Given the description of an element on the screen output the (x, y) to click on. 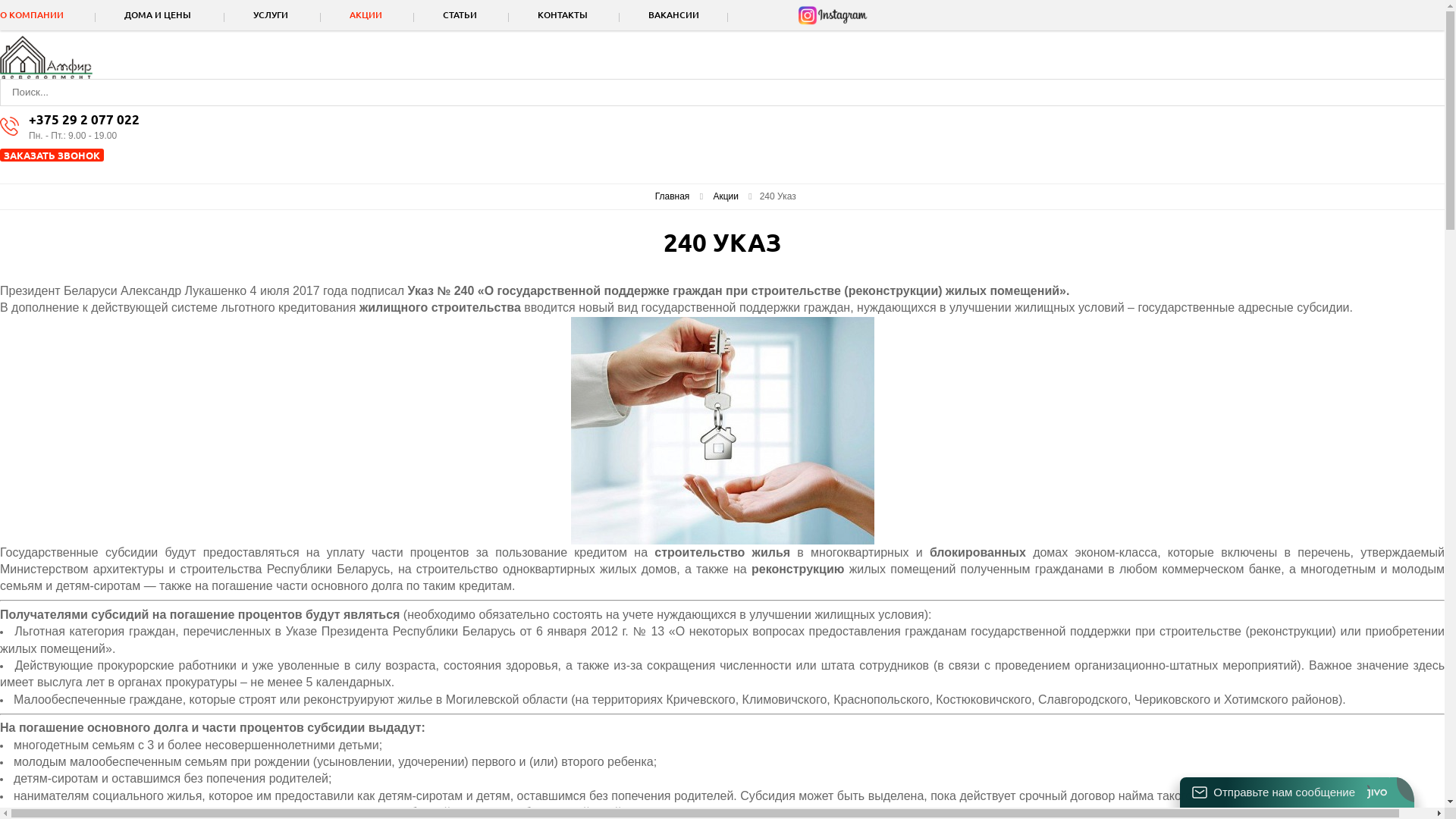
+375 29 2 077 022 Element type: text (736, 119)
